Given the description of an element on the screen output the (x, y) to click on. 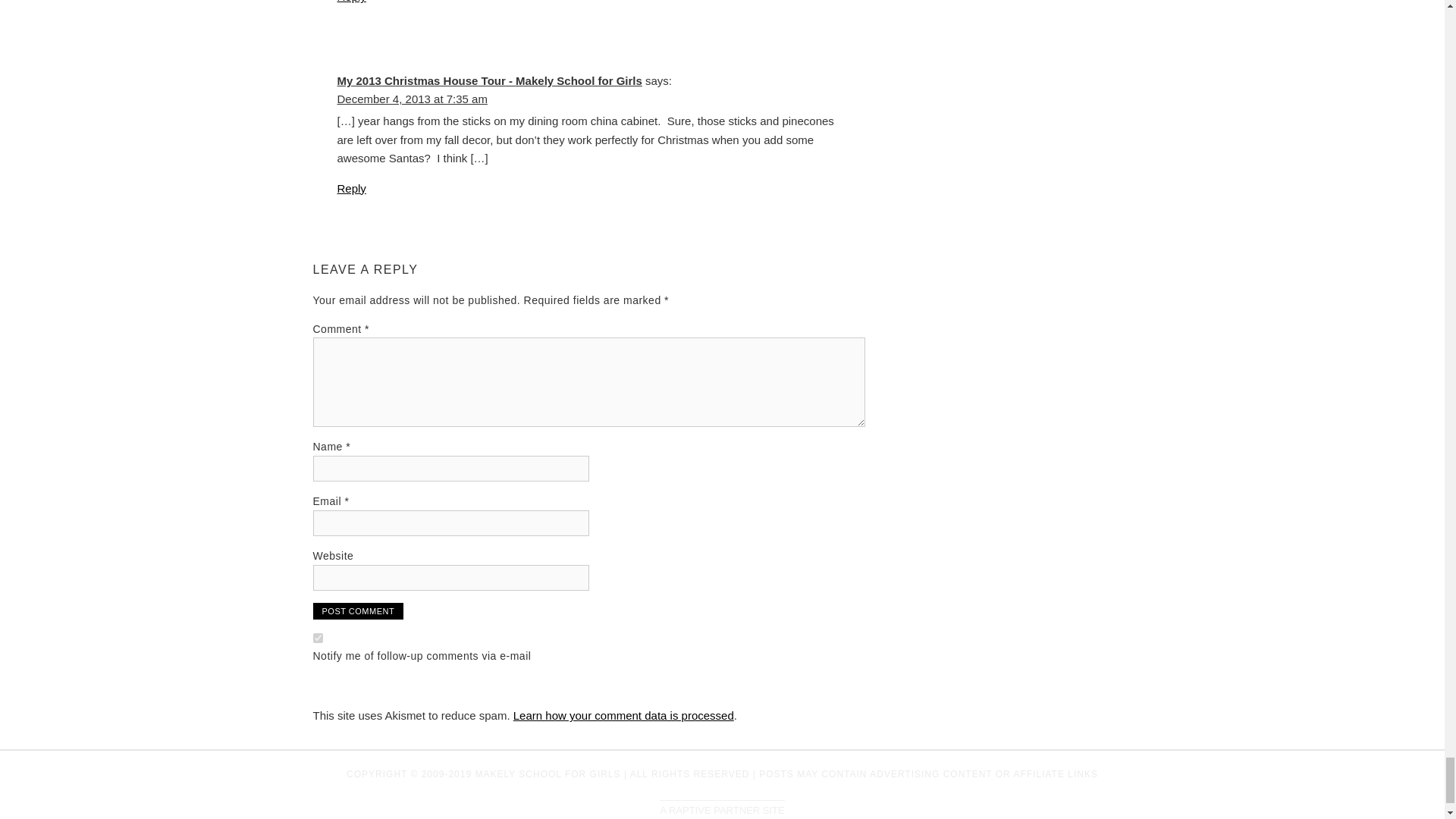
Post Comment (358, 610)
